Given the description of an element on the screen output the (x, y) to click on. 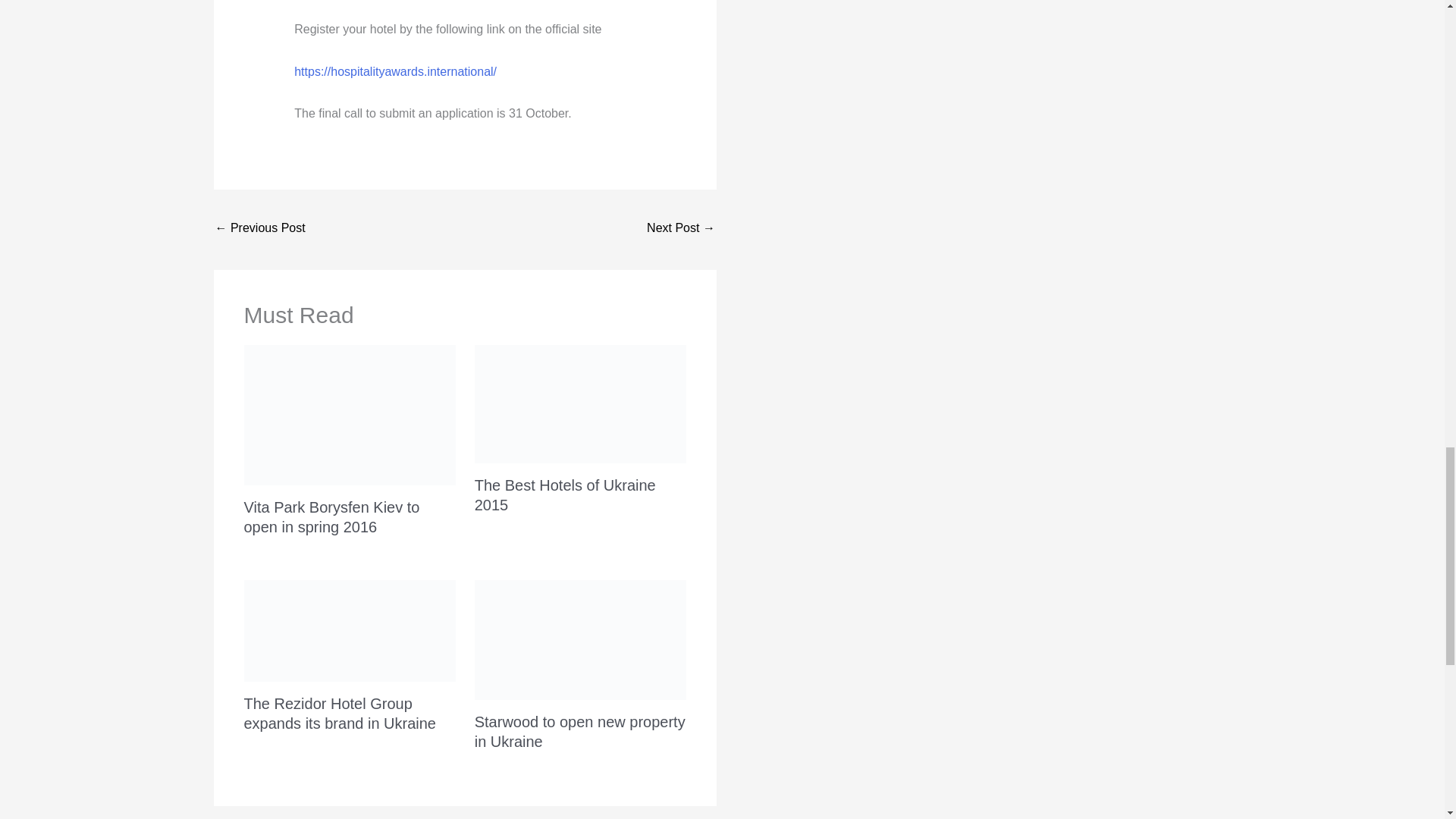
Wizz Air Launches Flights from Zaporizhzhia (680, 229)
Kharkiv International Airport Offers Covid-19 Tests (260, 229)
